Given the description of an element on the screen output the (x, y) to click on. 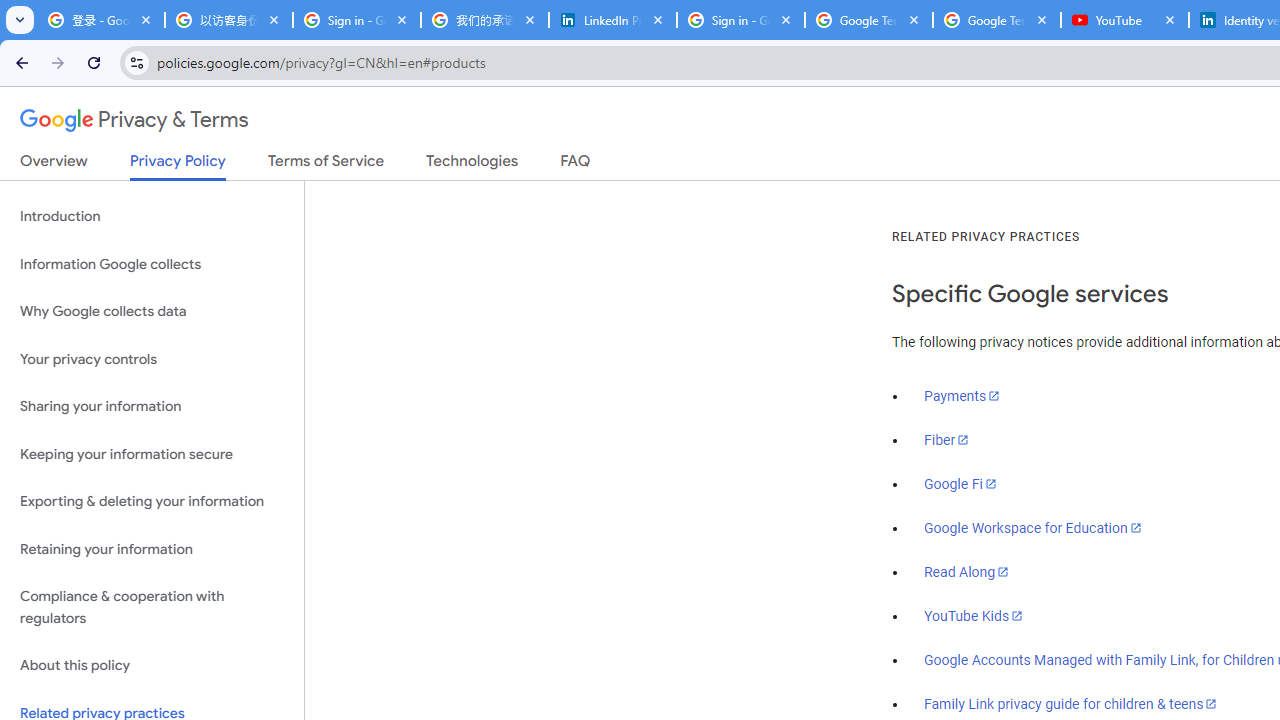
Compliance & cooperation with regulators (152, 607)
Information Google collects (152, 263)
Family Link privacy guide for children & teens (1071, 703)
Sign in - Google Accounts (357, 20)
Terms of Service (326, 165)
Introduction (152, 216)
Your privacy controls (152, 358)
LinkedIn Privacy Policy (613, 20)
Google Workspace for Education (1032, 528)
Fiber (947, 440)
